Given the description of an element on the screen output the (x, y) to click on. 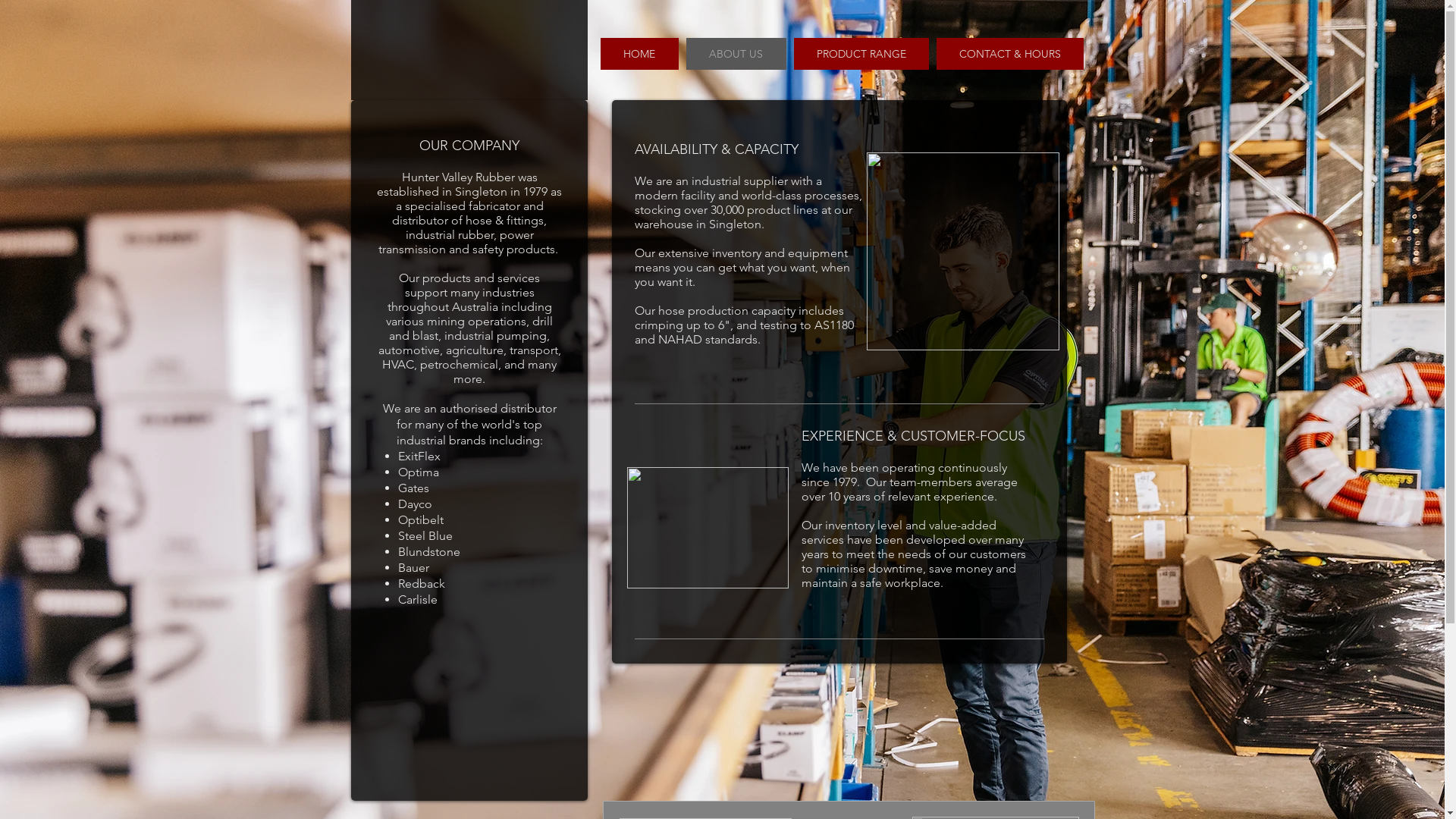
ABOUT US Element type: text (735, 53)
PRODUCT RANGE Element type: text (860, 53)
HOME Element type: text (639, 53)
CONTACT & HOURS Element type: text (1008, 53)
